Given the description of an element on the screen output the (x, y) to click on. 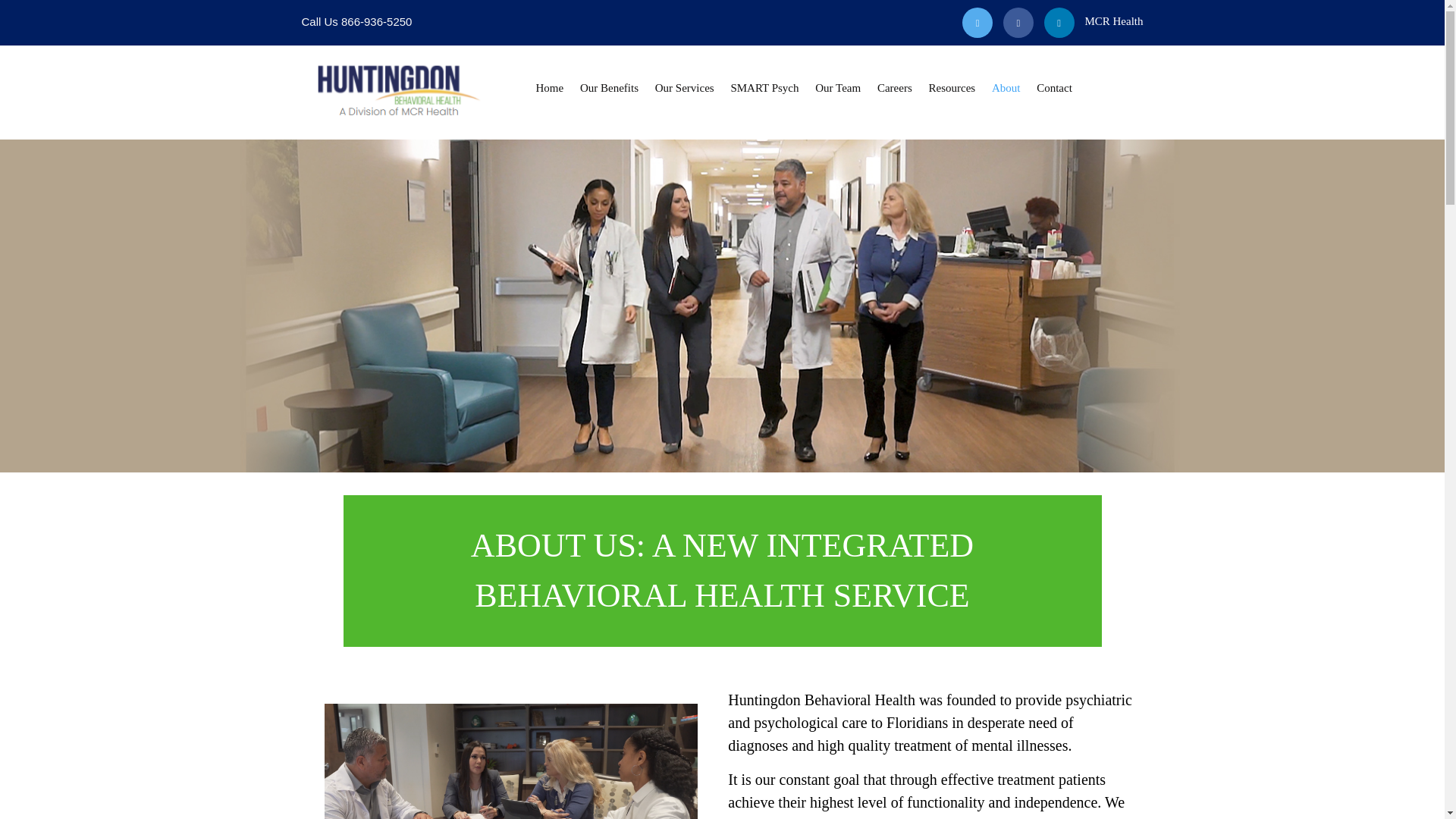
About (1005, 88)
Our Benefits (609, 88)
Home (549, 88)
Our Services (684, 88)
SMART Psych (763, 88)
Our Team (837, 88)
Resources (951, 88)
Contact (1053, 88)
Careers (894, 88)
MCR Health (1113, 21)
